Given the description of an element on the screen output the (x, y) to click on. 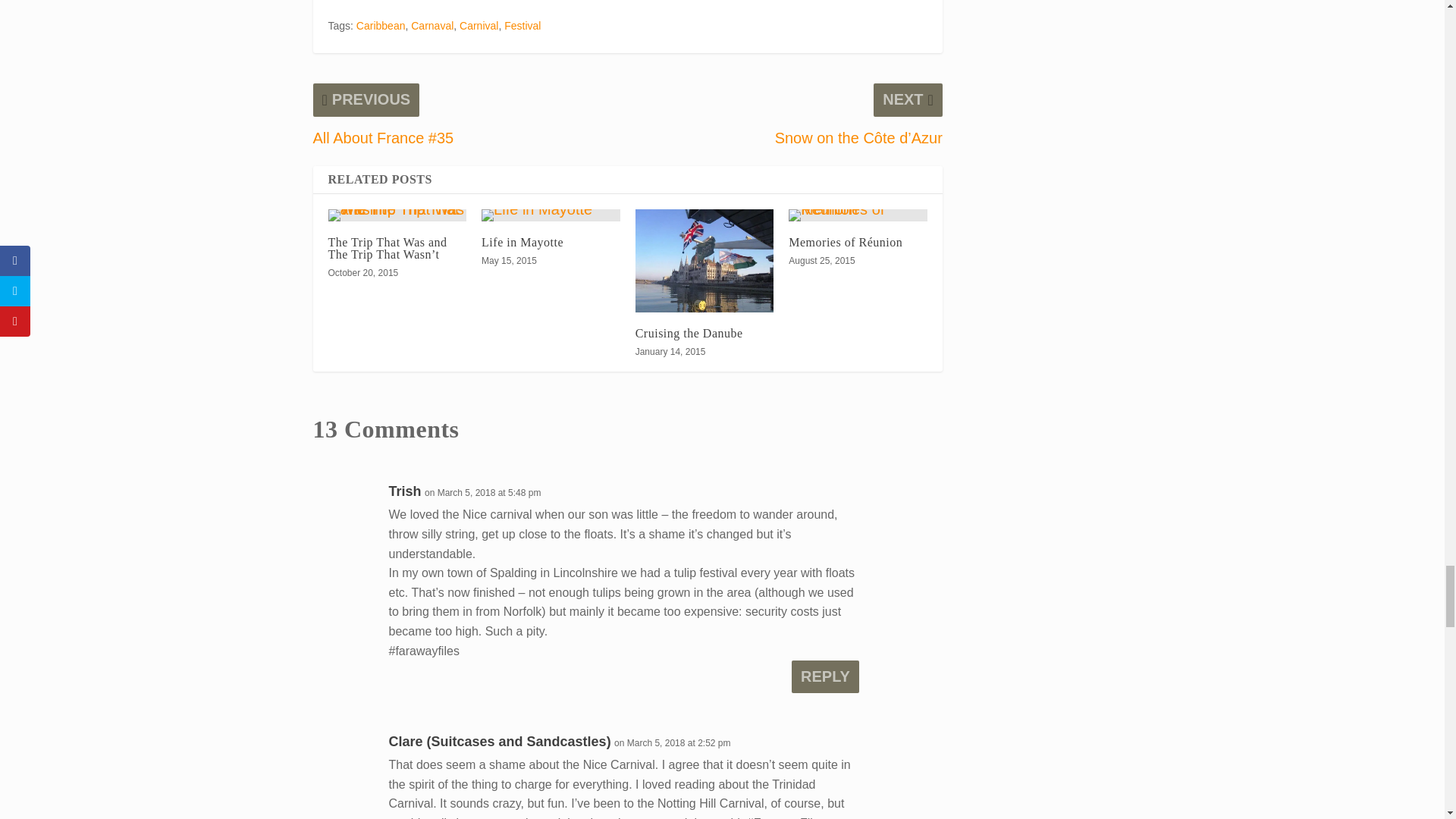
Caribbean (381, 25)
Life in Mayotte (550, 215)
Carnival (478, 25)
Cruising the Danube (704, 260)
Festival (521, 25)
Carnaval (431, 25)
